Given the description of an element on the screen output the (x, y) to click on. 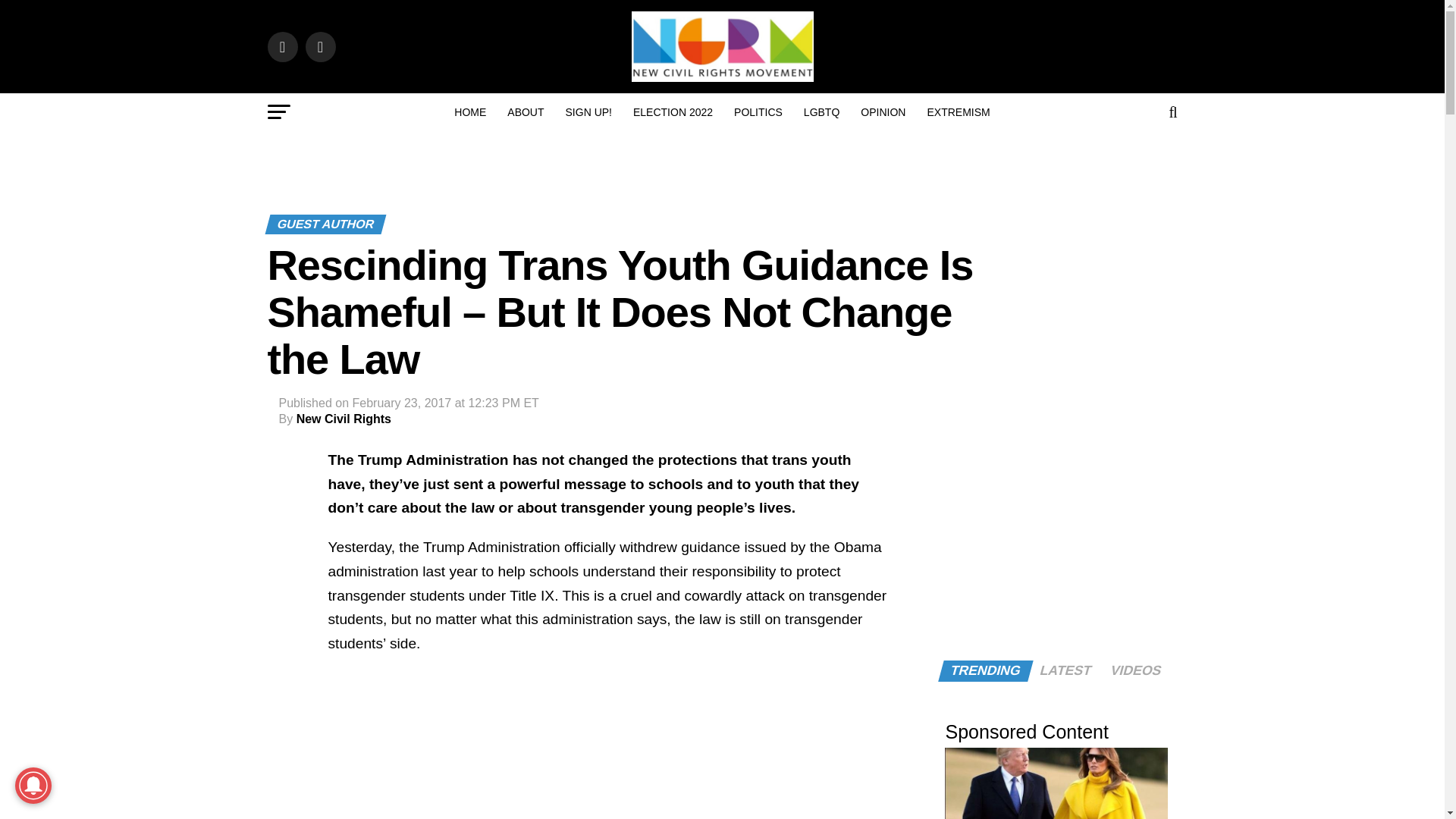
POLITICS (758, 112)
SIGN UP! (588, 112)
ELECTION 2022 (673, 112)
LGBTQ (821, 112)
EXTREMISM (957, 112)
Posts by New Civil Rights (344, 418)
Advertisement (607, 744)
ABOUT (525, 112)
New Civil Rights (344, 418)
OPINION (882, 112)
